Given the description of an element on the screen output the (x, y) to click on. 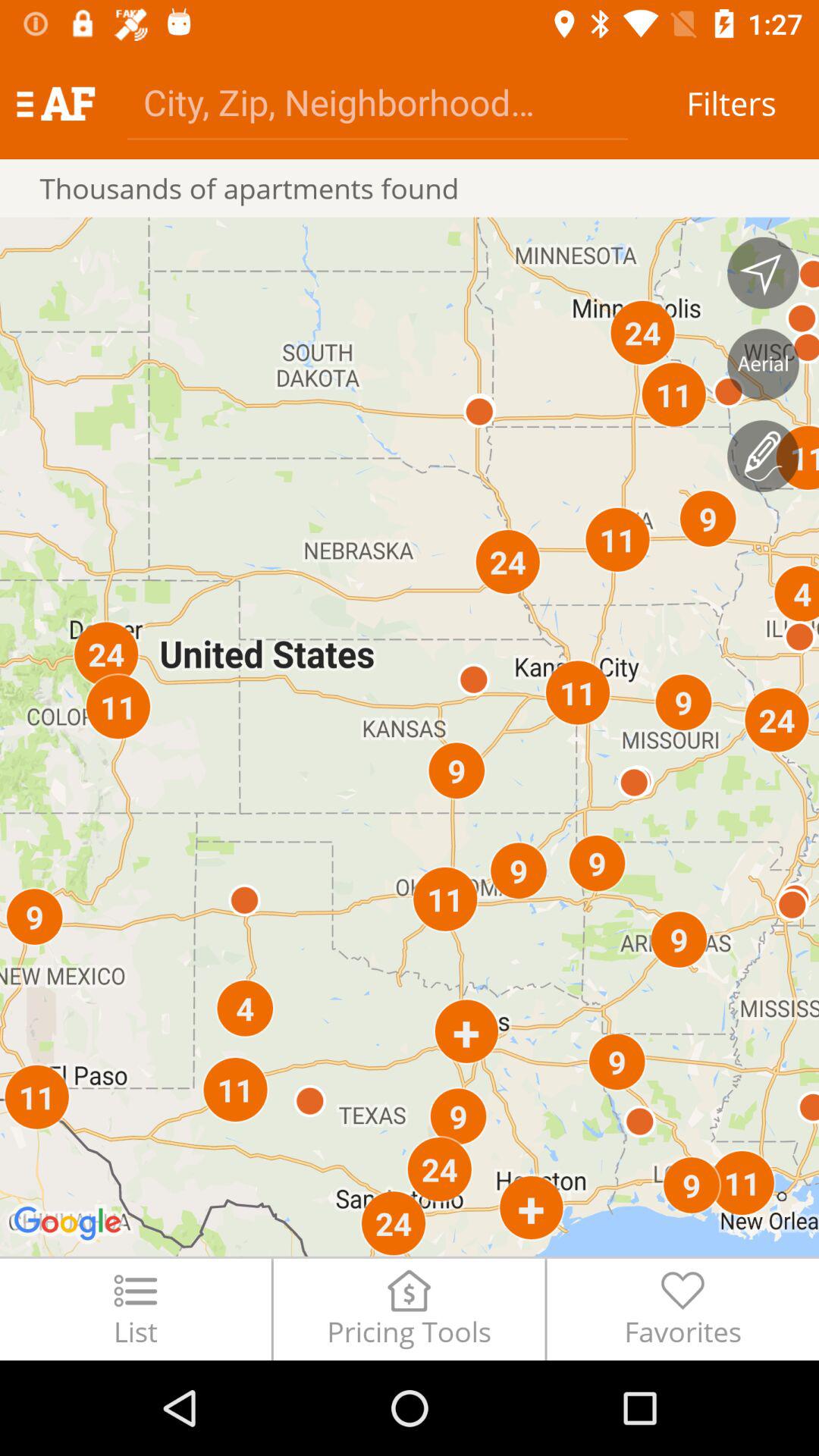
choose the icon next to filters item (377, 102)
